Given the description of an element on the screen output the (x, y) to click on. 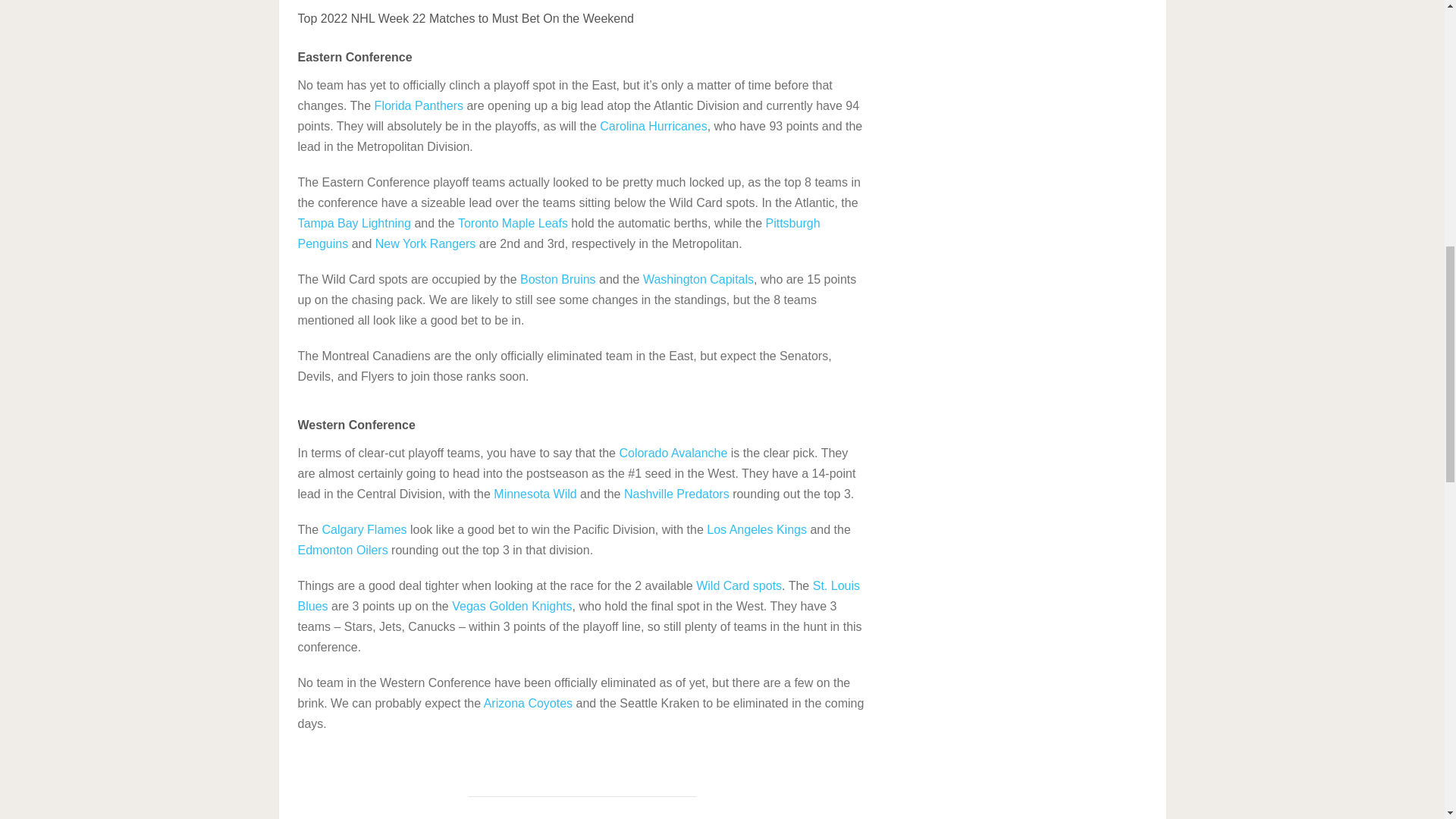
Pittsburgh Penguins (558, 233)
Florida Panthers (418, 105)
Toronto Maple Leafs (512, 223)
Carolina Hurricanes (652, 125)
Colorado Avalanche (672, 452)
Washington Capitals (698, 278)
Nashville Predators (676, 493)
Minnesota Wild (534, 493)
Boston Bruins (557, 278)
New York Rangers (425, 243)
